Given the description of an element on the screen output the (x, y) to click on. 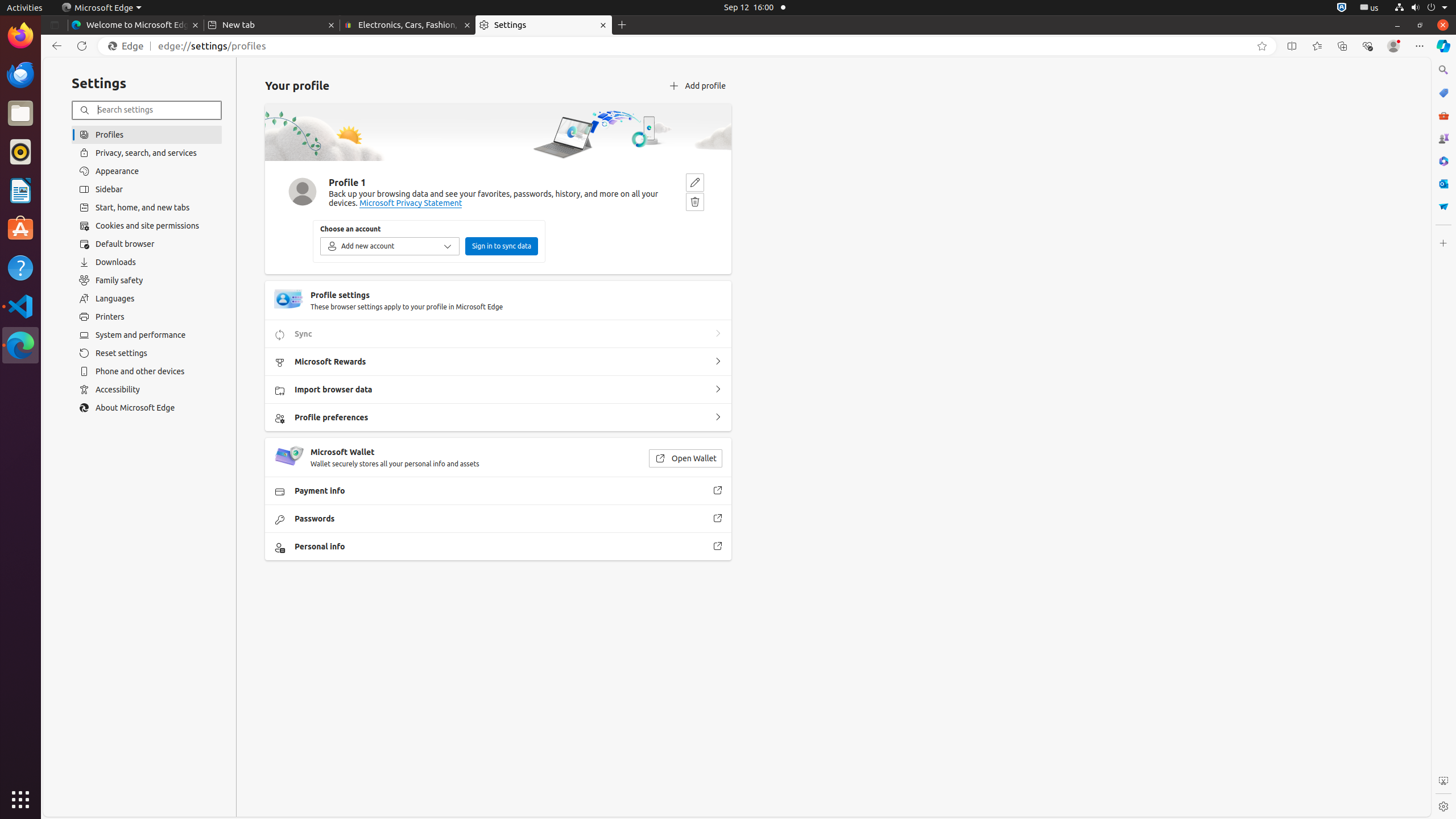
Microsoft Shopping Element type: push-button (1443, 92)
LibreOffice Writer Element type: push-button (20, 190)
Drop Element type: push-button (1443, 206)
Appearance Element type: tree-item (146, 171)
Games Element type: push-button (1443, 137)
